Given the description of an element on the screen output the (x, y) to click on. 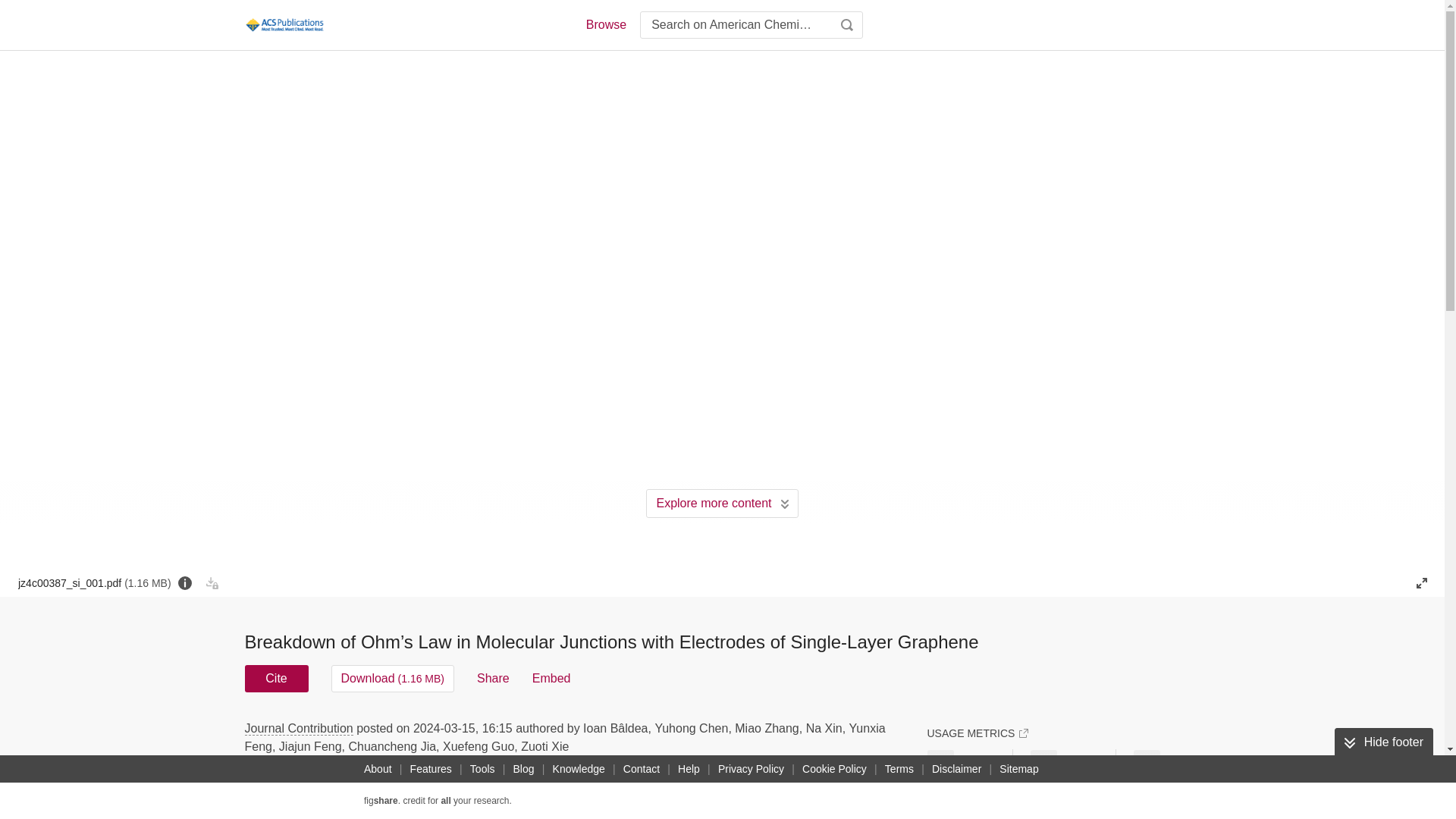
Explore more content (721, 502)
Browse (605, 24)
Cite (275, 678)
USAGE METRICS (976, 732)
Share (493, 678)
Embed (551, 678)
